Given the description of an element on the screen output the (x, y) to click on. 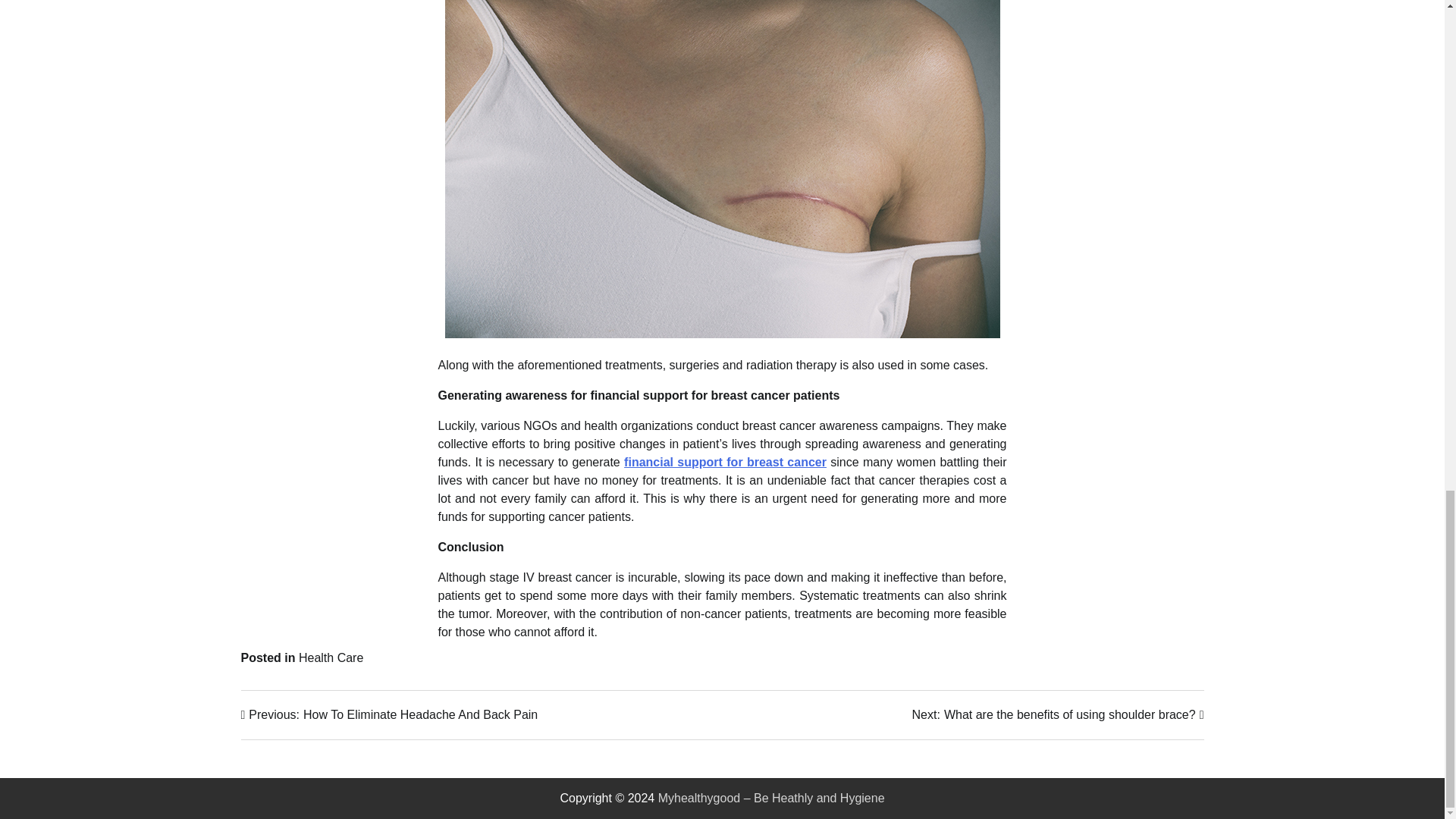
Health Care (1058, 714)
financial support for breast cancer (330, 657)
